Given the description of an element on the screen output the (x, y) to click on. 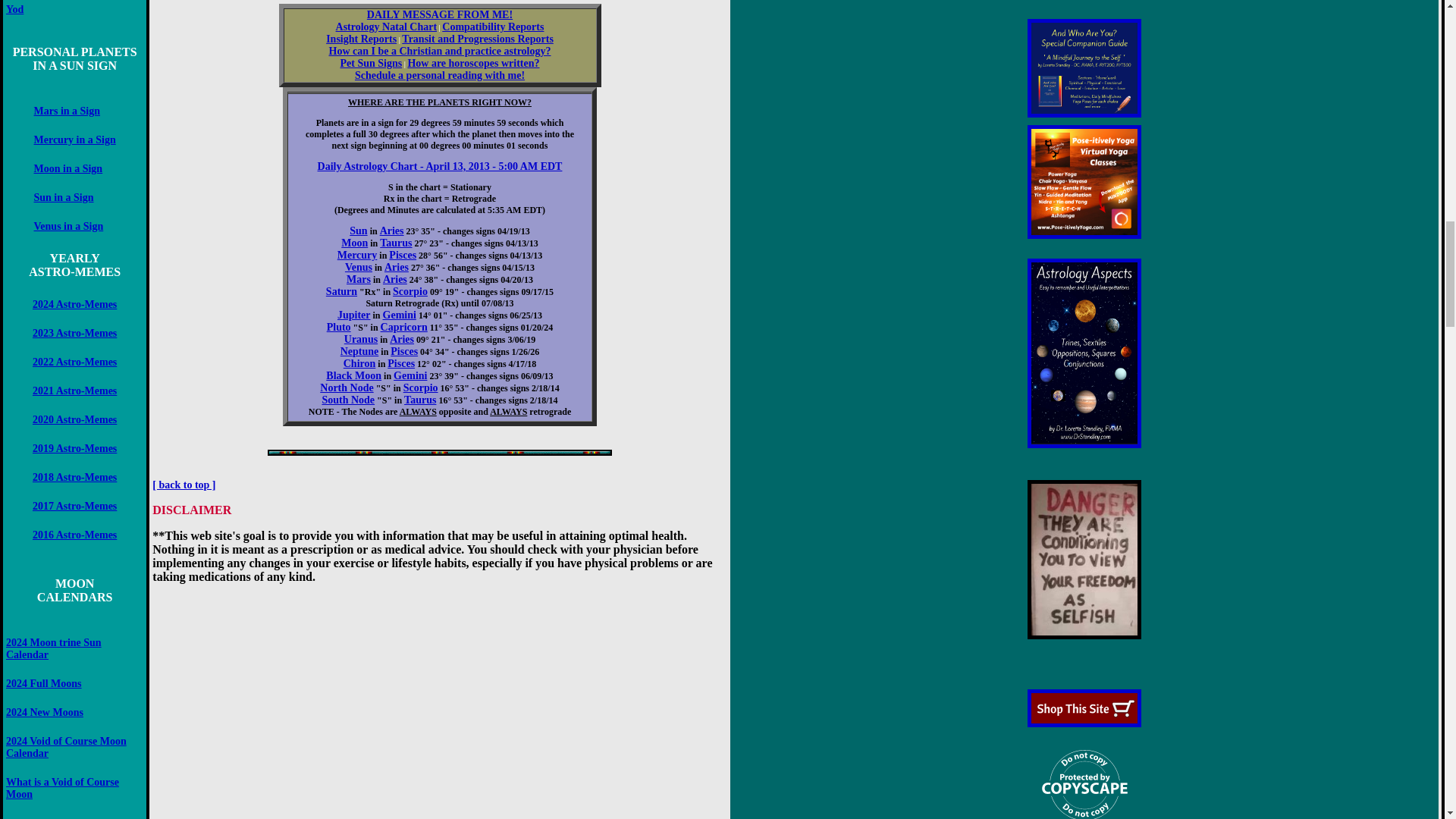
Mercury in a Sign (74, 139)
Moon in a Sign (68, 168)
Yod (14, 9)
Mars in a Sign (66, 111)
